Given the description of an element on the screen output the (x, y) to click on. 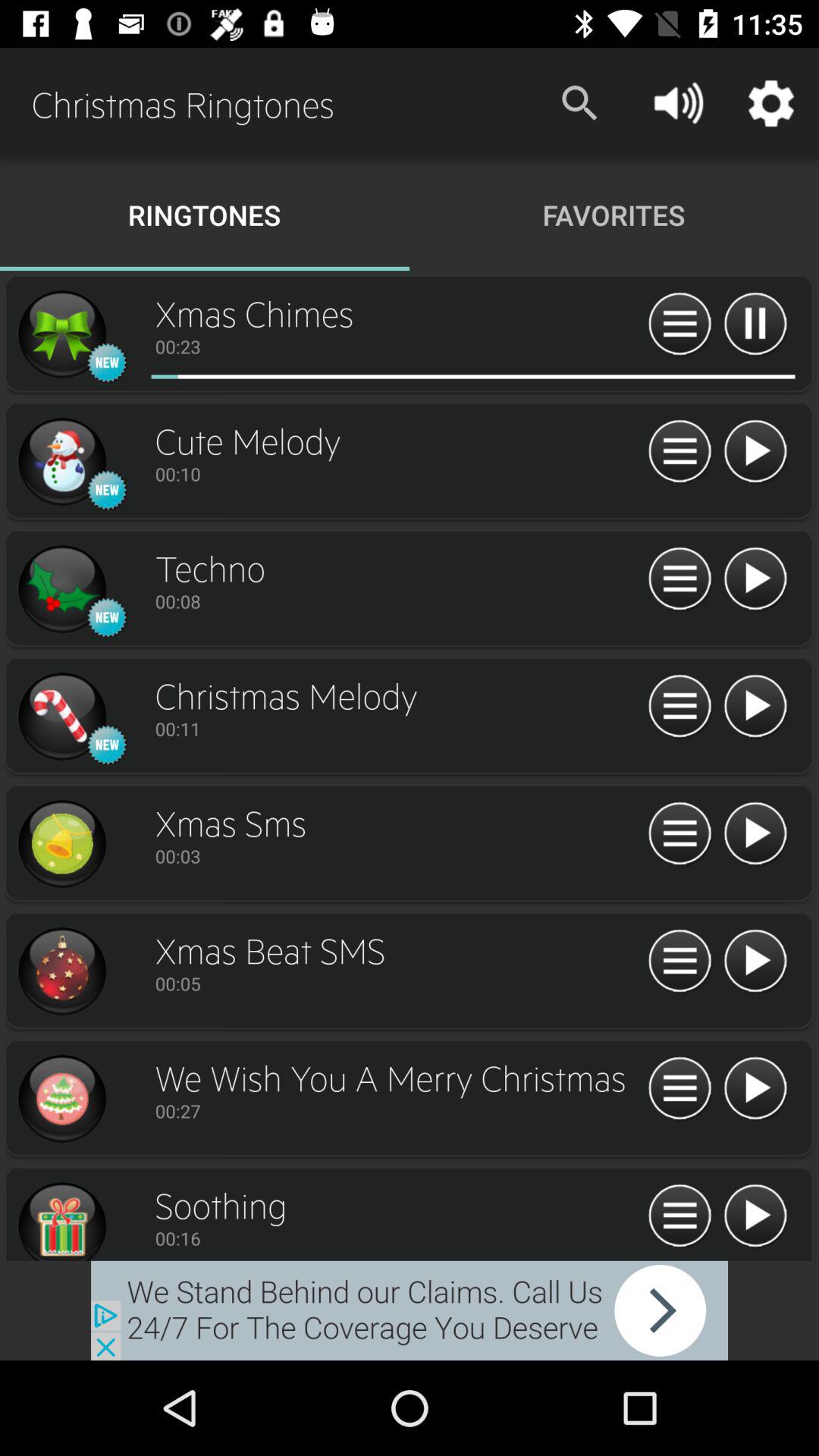
back farce (409, 1310)
